Given the description of an element on the screen output the (x, y) to click on. 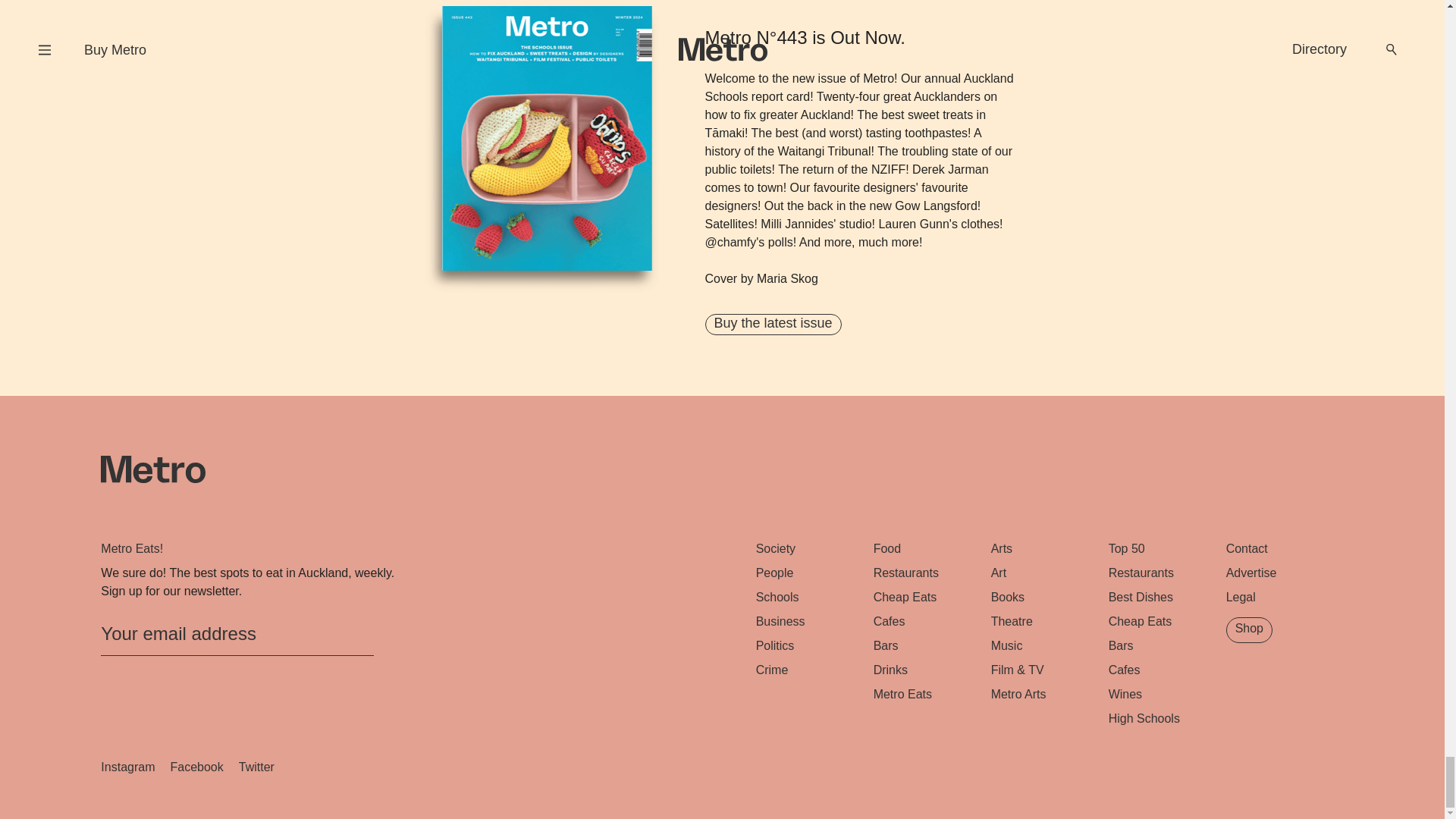
Buy the latest issue (772, 323)
